Given the description of an element on the screen output the (x, y) to click on. 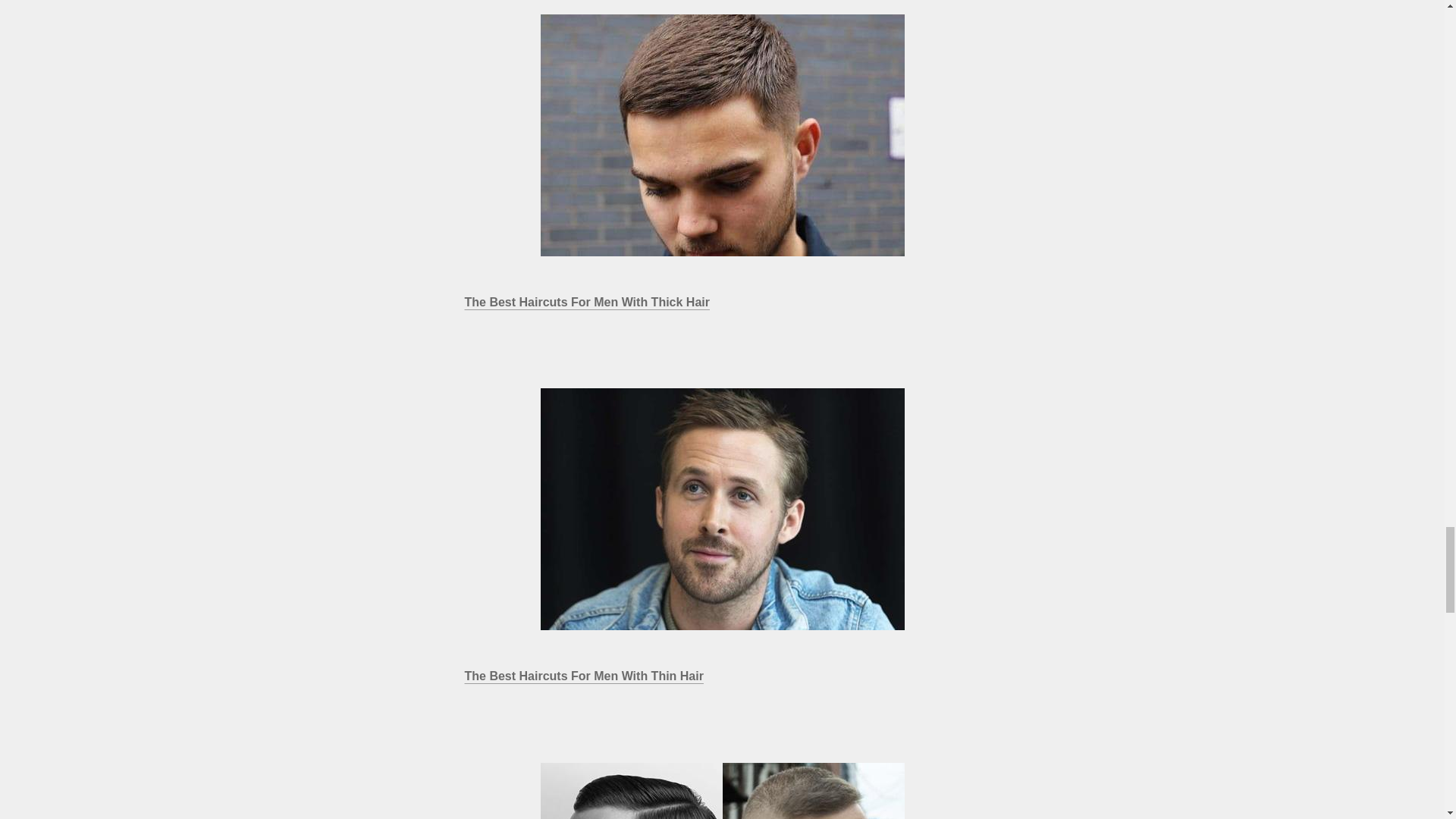
The Best Haircuts For Men With Thin Hair (721, 508)
The Best Haircuts For Men With Thick Hair (586, 301)
The Best Haircuts For Men With Thin Hair (583, 675)
The Best Haircuts For Men With Thick Hair (721, 135)
